Given the description of an element on the screen output the (x, y) to click on. 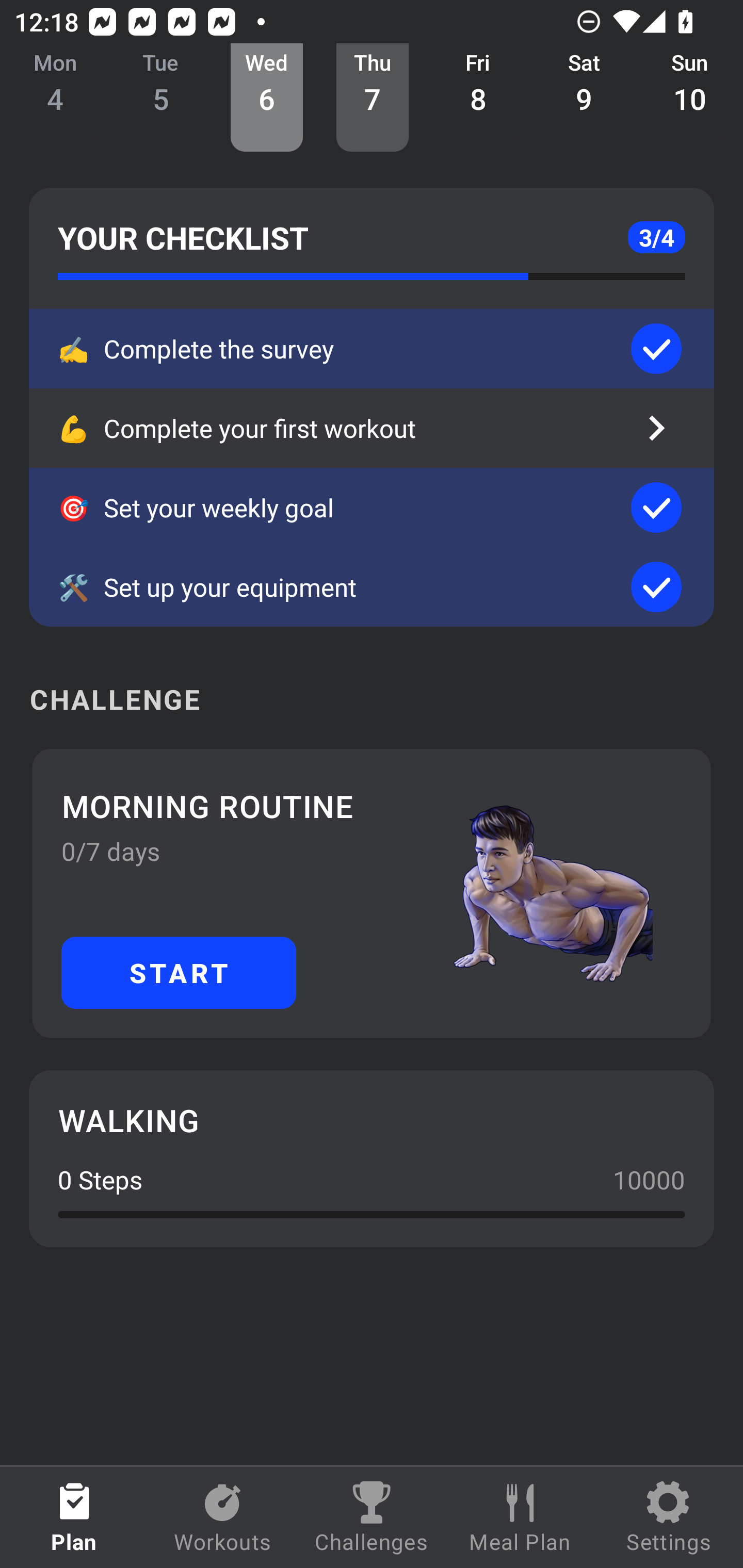
Mon 4 (55, 97)
Tue 5 (160, 97)
Wed 6 (266, 97)
Thu 7 (372, 97)
Fri 8 (478, 97)
Sat 9 (584, 97)
Sun 10 (690, 97)
💪 Complete your first workout (371, 427)
MORNING ROUTINE 0/7 days START (371, 892)
START (178, 972)
WALKING 0 Steps 10000 0.0 (371, 1158)
 Workouts  (222, 1517)
 Challenges  (371, 1517)
 Meal Plan  (519, 1517)
 Settings  (668, 1517)
